Given the description of an element on the screen output the (x, y) to click on. 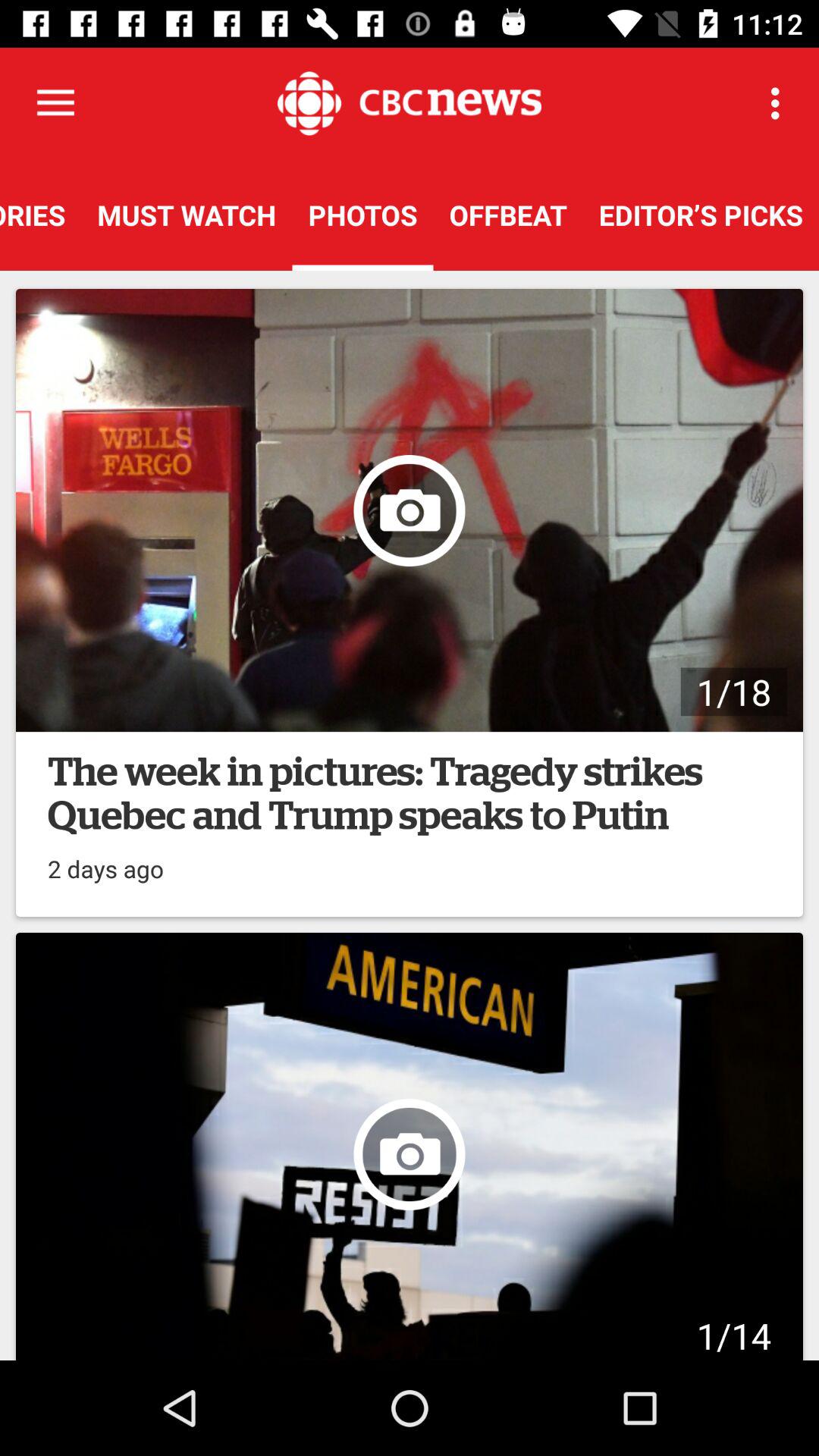
launch the icon to the right of the must watch icon (362, 214)
